Given the description of an element on the screen output the (x, y) to click on. 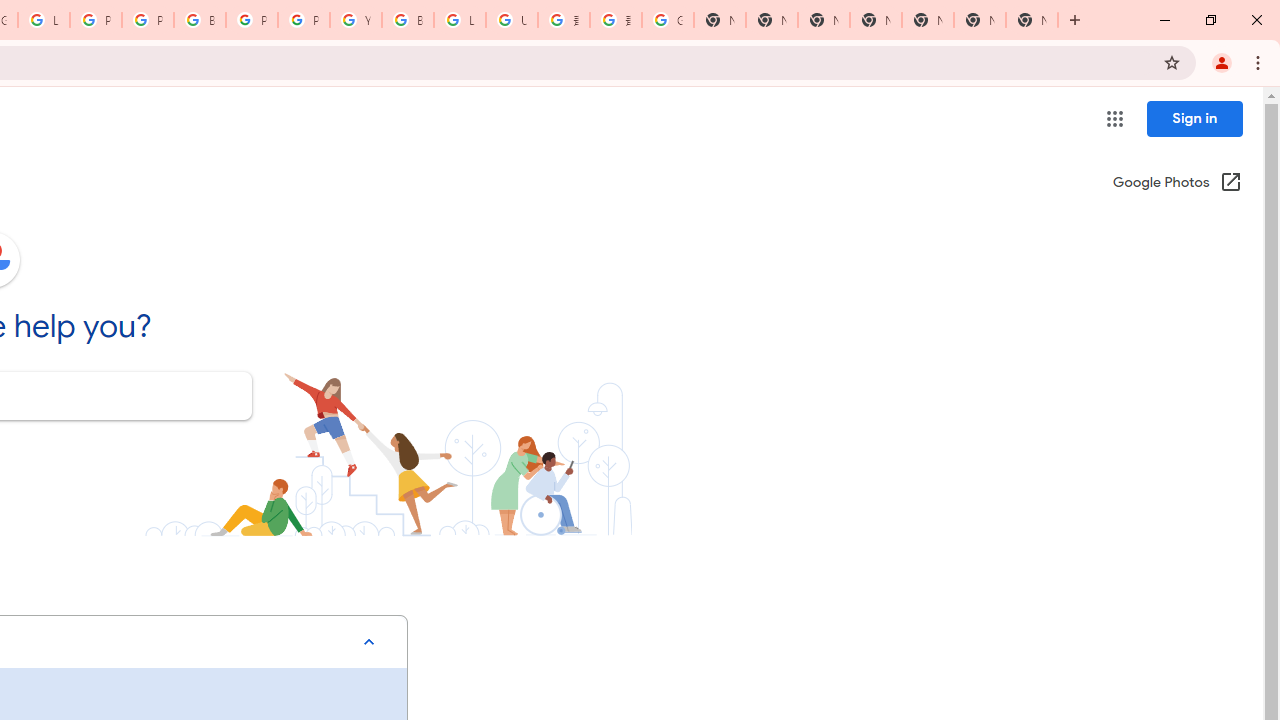
YouTube (355, 20)
Privacy Help Center - Policies Help (95, 20)
Google Photos (Open in a new window) (1177, 183)
New Tab (875, 20)
